Given the description of an element on the screen output the (x, y) to click on. 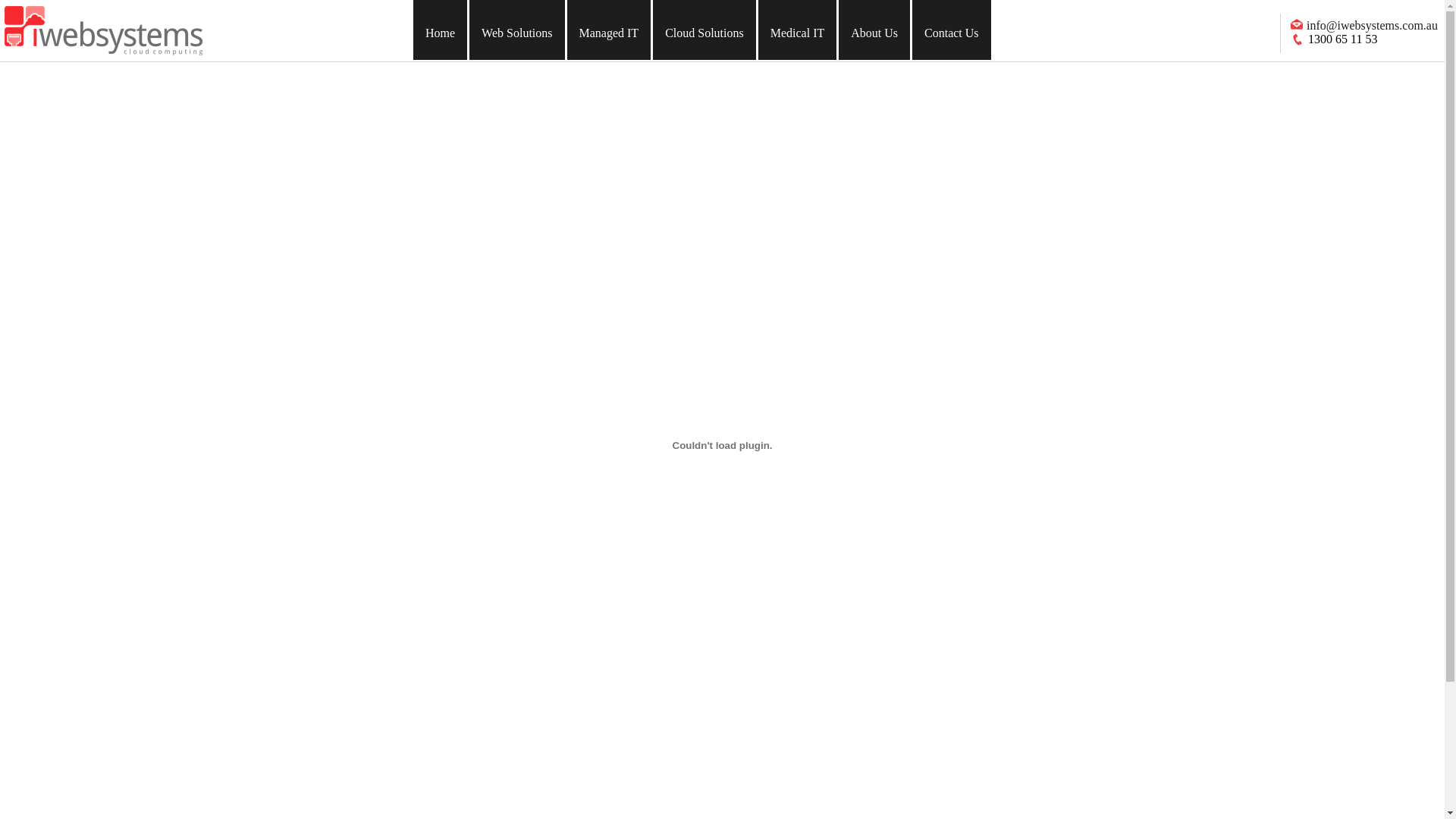
Cloud Solutions Element type: text (704, 29)
Contact Us Element type: text (951, 29)
Home Element type: hover (103, 30)
Managed IT Element type: text (609, 29)
Home Element type: text (440, 29)
About Us Element type: text (874, 29)
info@iwebsystems.com.au Element type: text (1371, 24)
Medical IT Element type: text (797, 29)
Web Solutions Element type: text (516, 29)
